Given the description of an element on the screen output the (x, y) to click on. 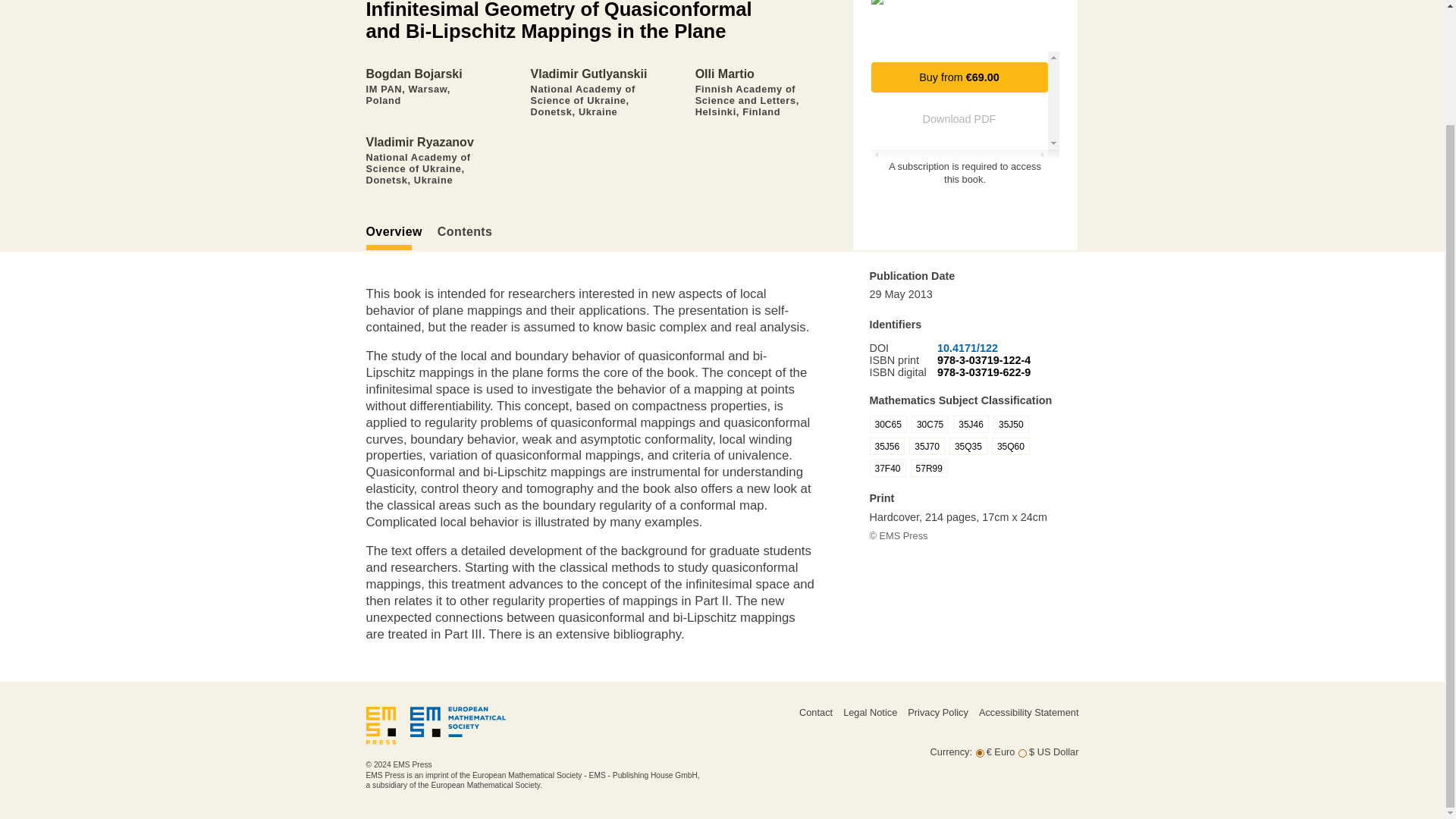
EUR (979, 753)
USD (1021, 753)
Legal Notice (869, 712)
Privacy Policy (937, 712)
Footer Navigation (889, 726)
Download PDF (958, 119)
Accessibility Statement (1028, 712)
Contact (815, 712)
Overview (400, 237)
Contents (473, 232)
